Given the description of an element on the screen output the (x, y) to click on. 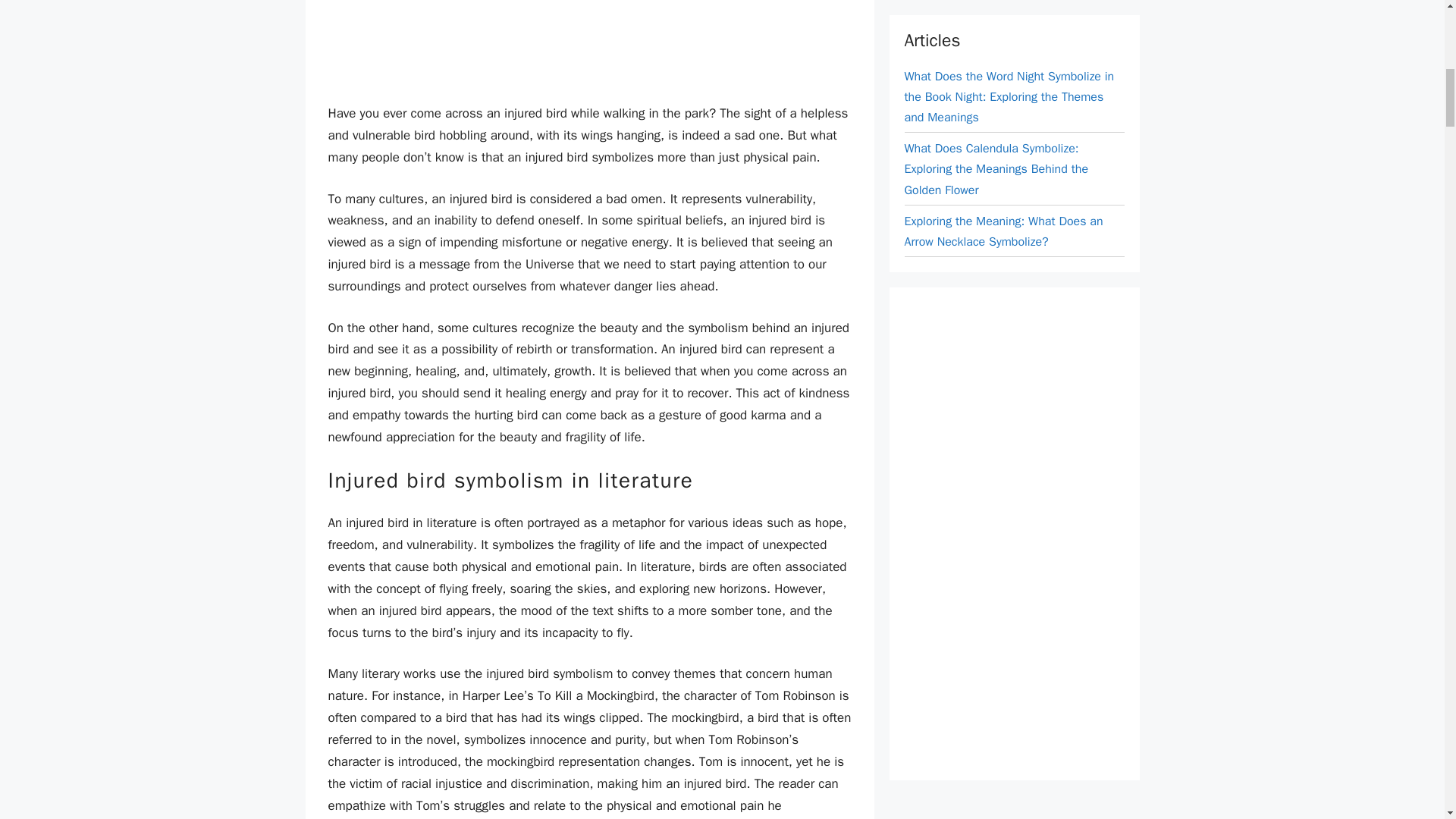
Advertisement (589, 44)
Advertisement (1017, 7)
